Given the description of an element on the screen output the (x, y) to click on. 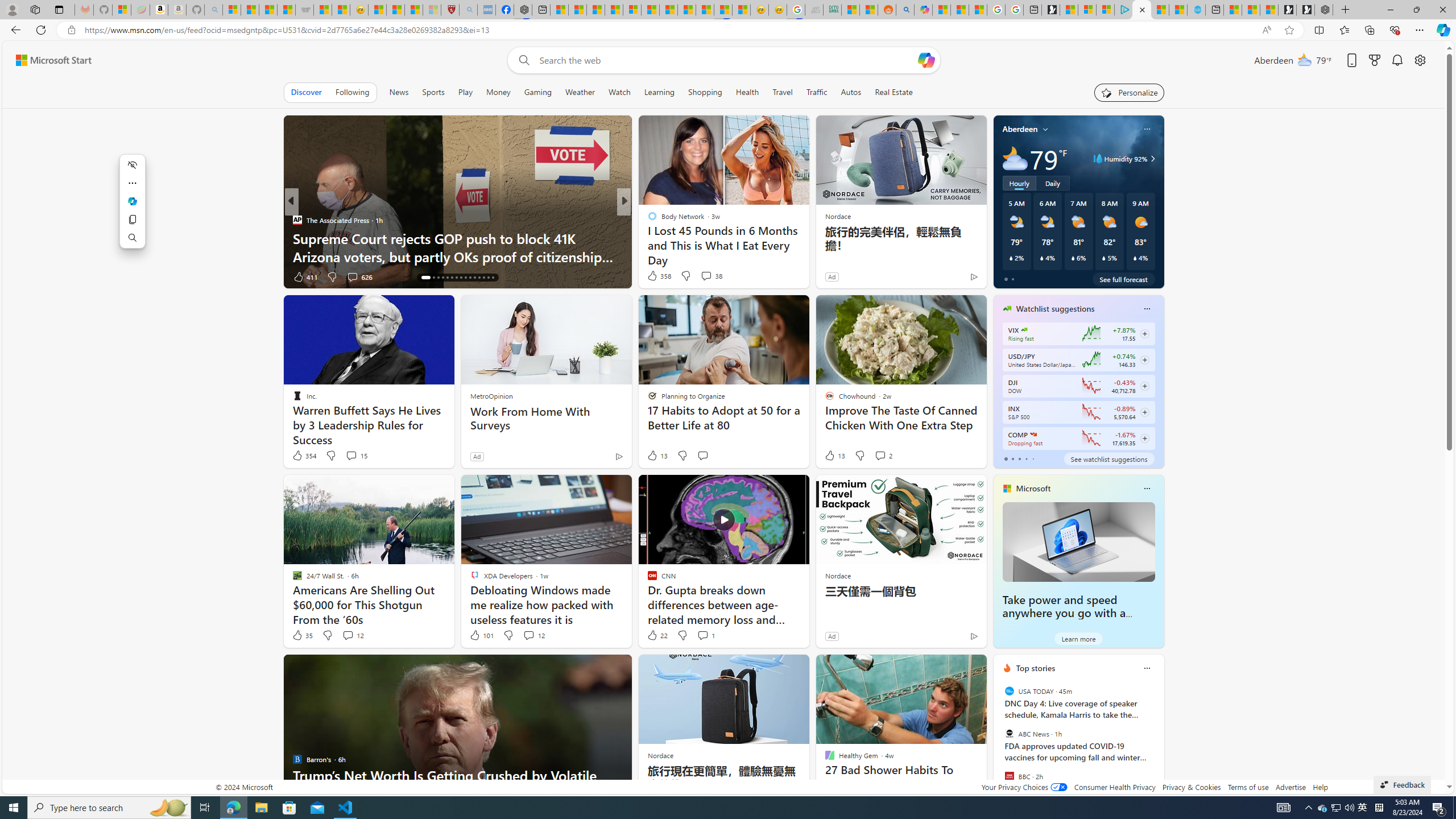
View comments 11 Comment (704, 276)
Keep Butter Out Of The Fridge? We've Got Grim News For You (807, 247)
ABC News (1008, 733)
View comments 34 Comment (707, 276)
GOBankingRates (647, 219)
